Given the description of an element on the screen output the (x, y) to click on. 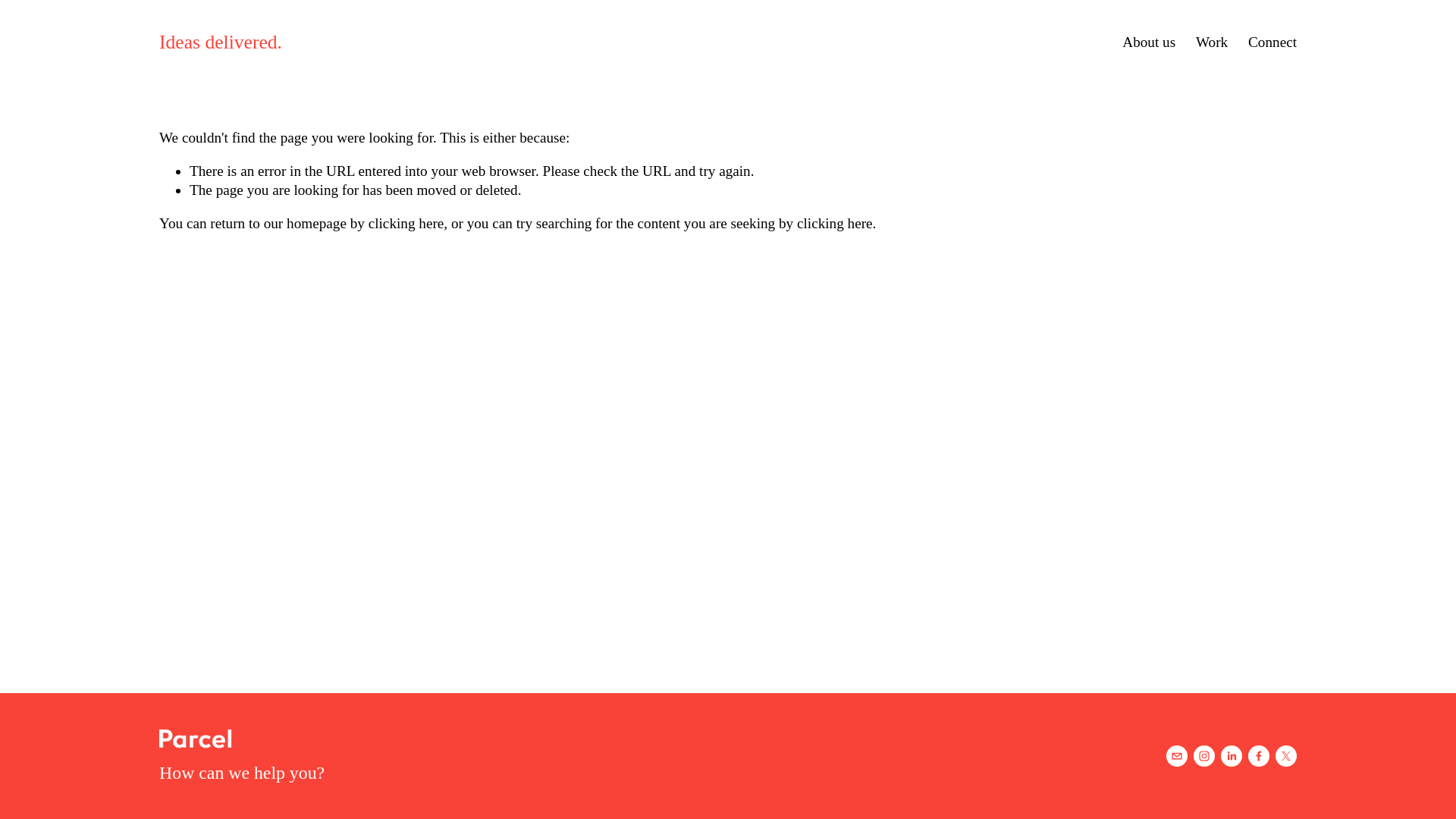
clicking here (406, 222)
Connect (1272, 42)
clicking here (834, 222)
Work (1211, 42)
How can we help you? (241, 772)
About us (1148, 42)
Ideas delivered. (220, 42)
